Given the description of an element on the screen output the (x, y) to click on. 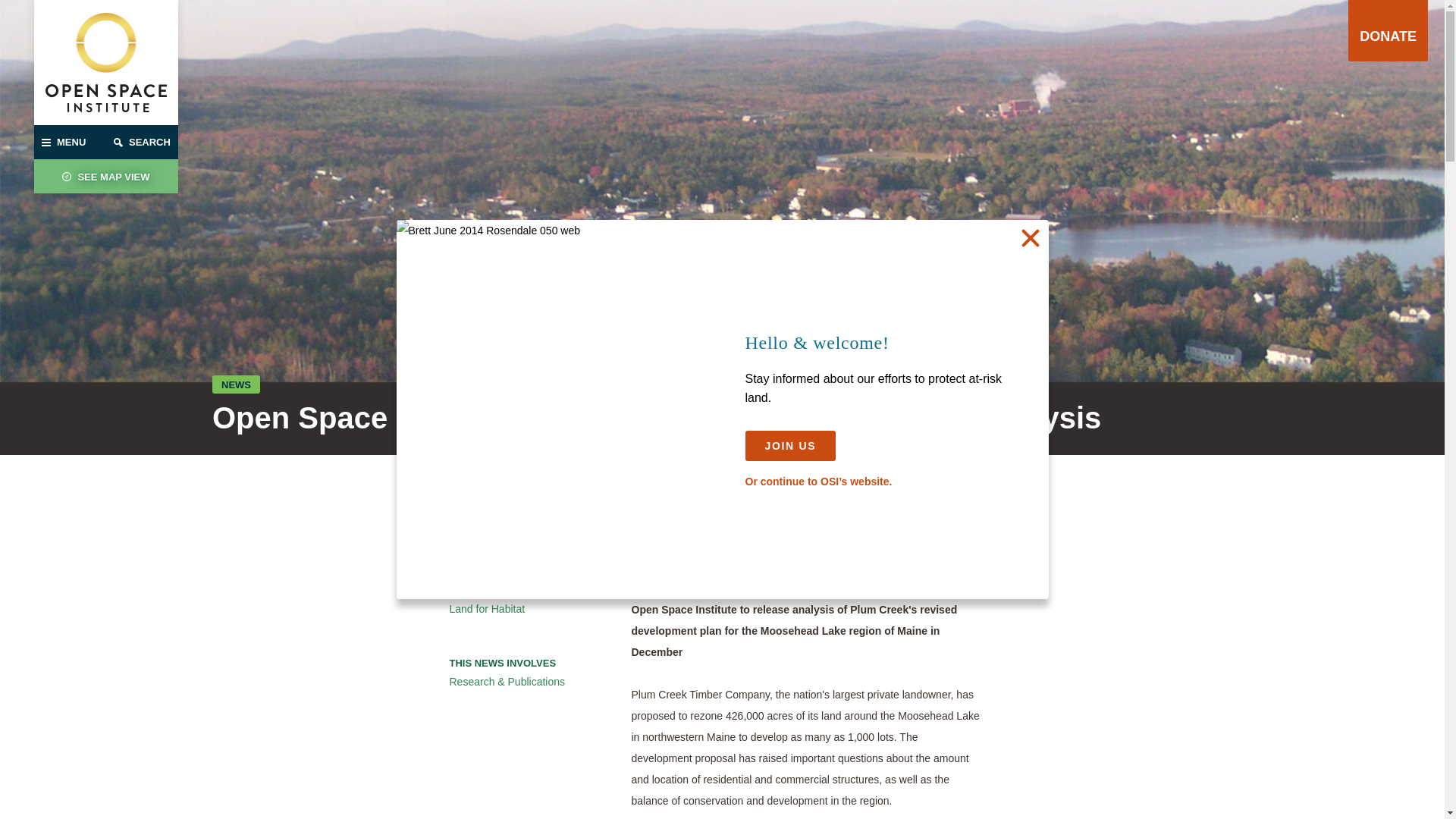
SEARCH (141, 141)
SEE MAP VIEW (105, 175)
Maine (523, 535)
DONATE (1388, 30)
Land for Habitat (523, 608)
MENU (69, 141)
NEWS (236, 384)
